Given the description of an element on the screen output the (x, y) to click on. 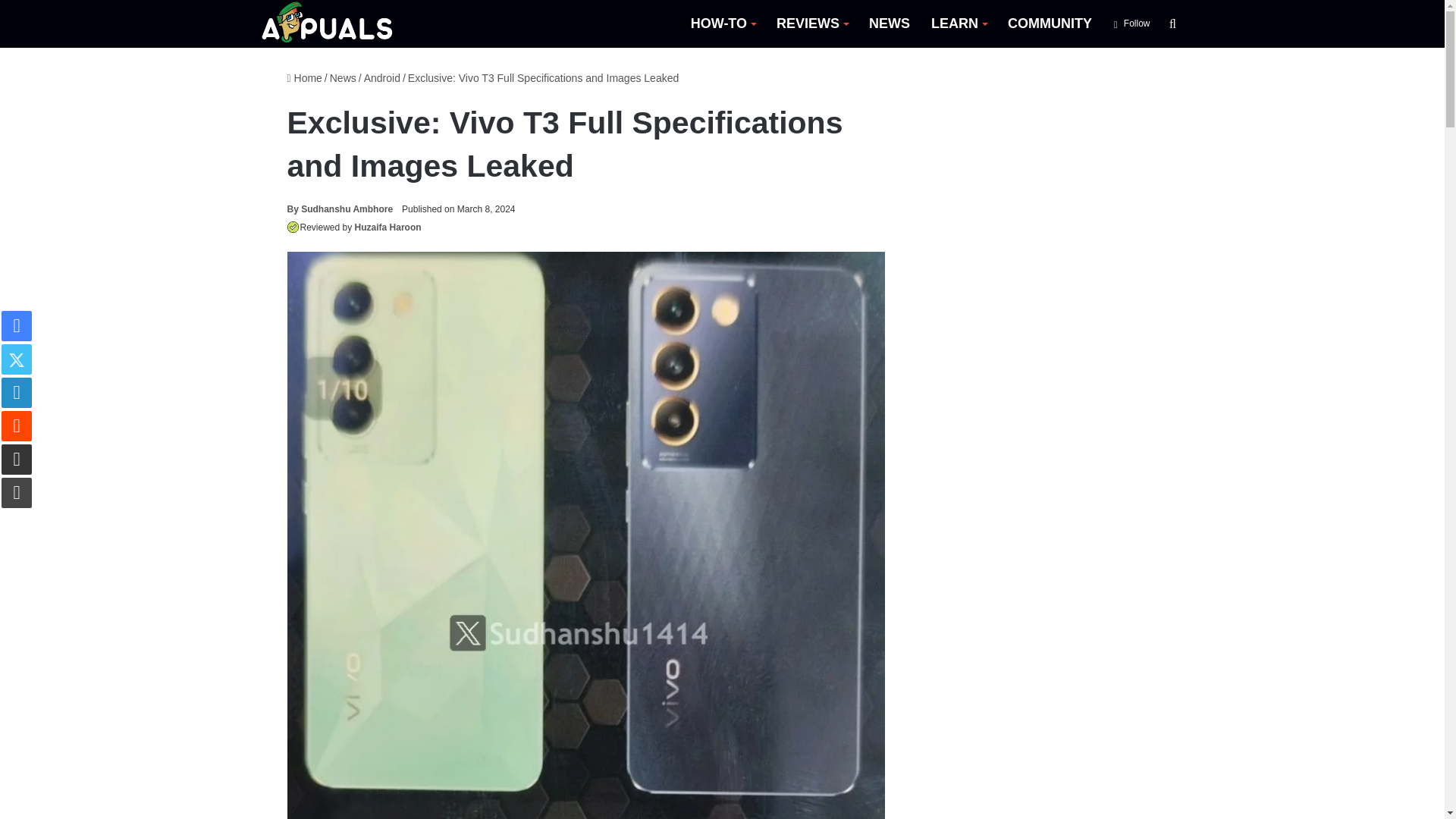
NEWS (889, 23)
Sudhanshu Ambhore (339, 208)
LinkedIn (16, 392)
Share via Email (16, 459)
COMMUNITY (1049, 23)
Facebook (16, 326)
Print (16, 492)
Reddit (16, 426)
REVIEWS (812, 23)
HOW-TO (722, 23)
Twitter (16, 358)
Appuals (327, 23)
LEARN (958, 23)
